Given the description of an element on the screen output the (x, y) to click on. 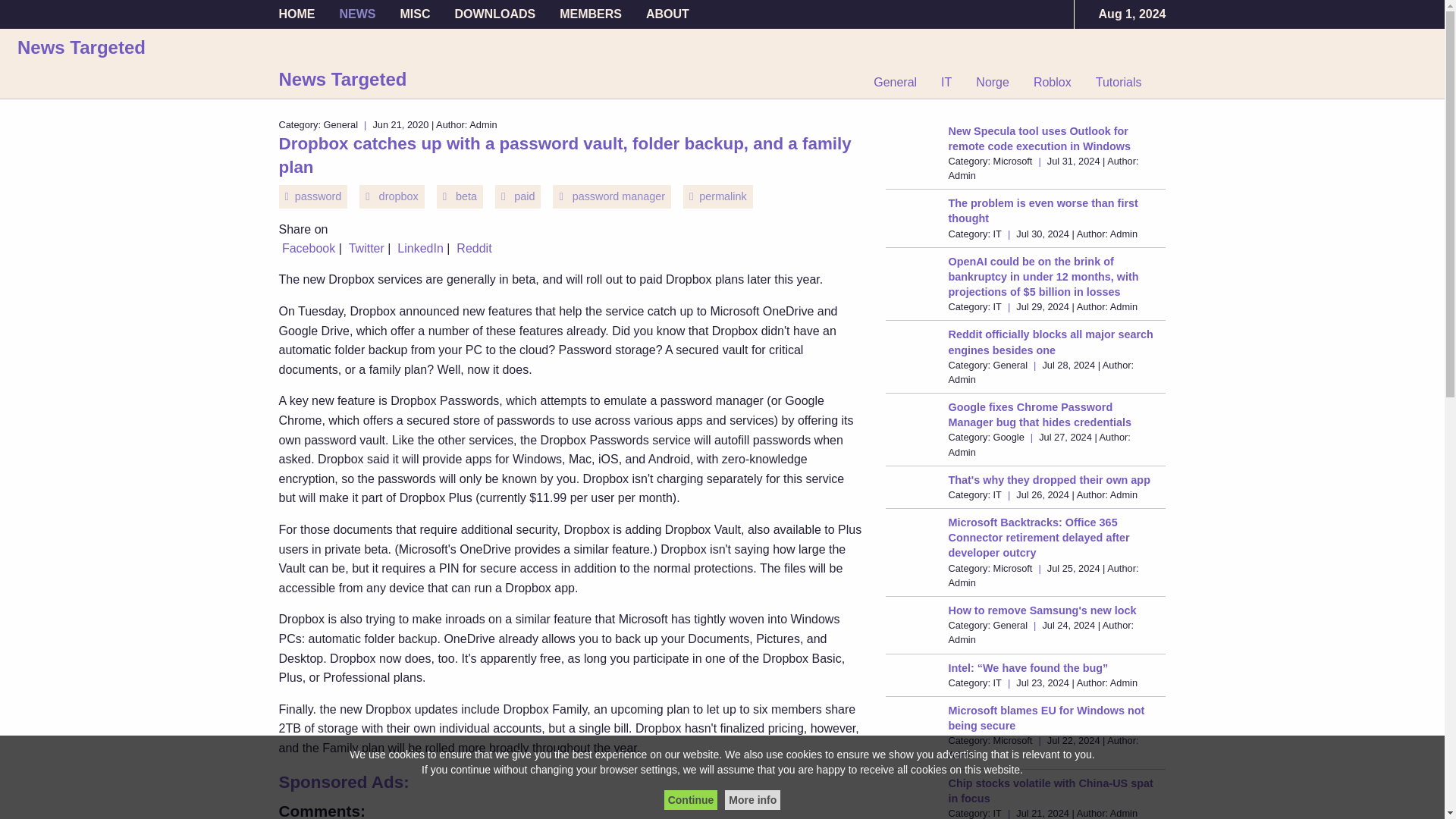
887 articles (900, 82)
Roblox (1052, 82)
DOWNLOADS (495, 14)
MISC (415, 14)
15 articles (992, 82)
General (900, 82)
Norge (992, 82)
1 articles (1052, 82)
IT (945, 82)
News Targeted (343, 78)
Continue (690, 799)
MEMBERS (590, 14)
More info (752, 799)
HOME (303, 14)
37 articles (1118, 82)
